Given the description of an element on the screen output the (x, y) to click on. 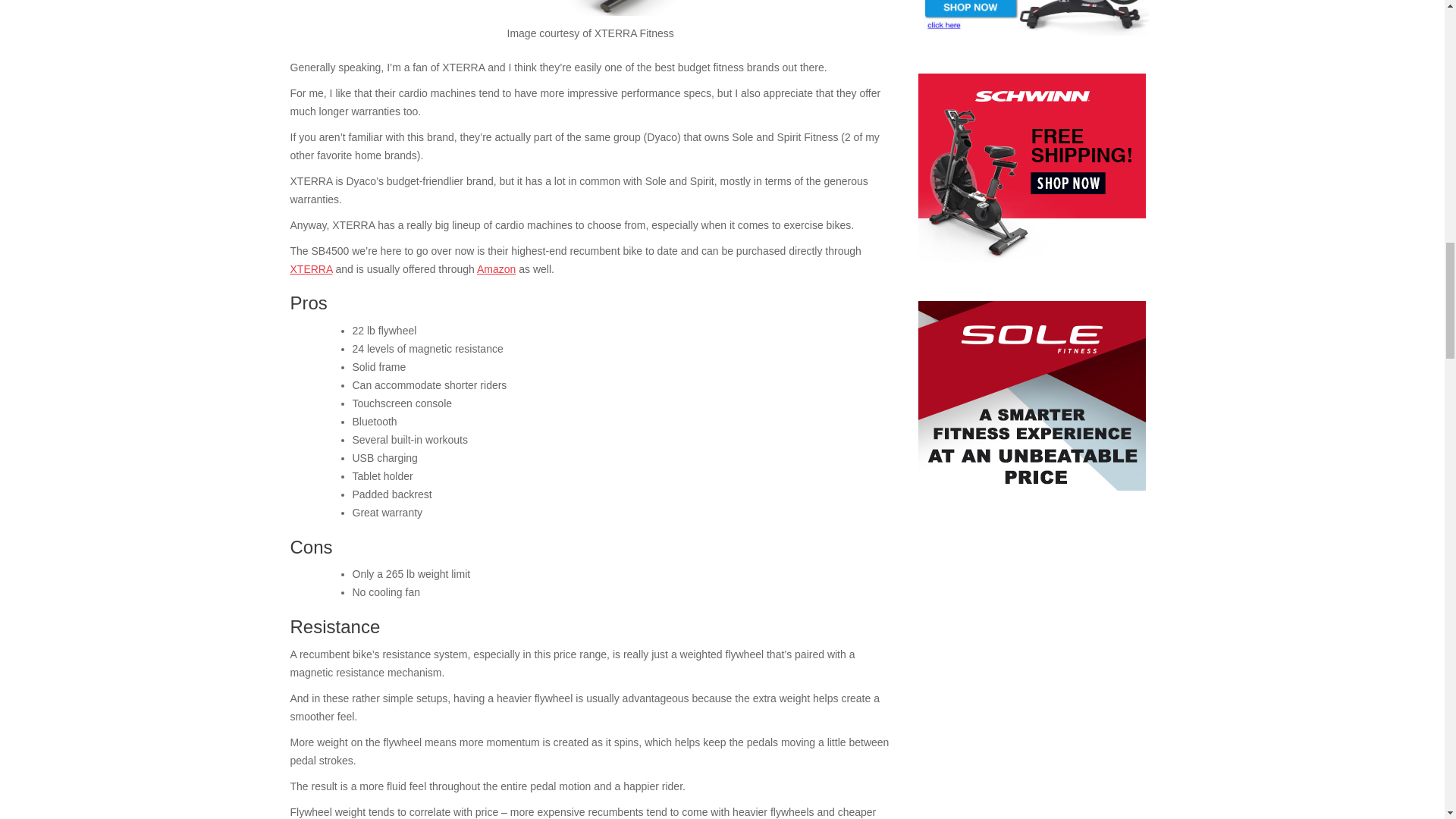
Amazon (496, 268)
XTERRA (310, 268)
